Given the description of an element on the screen output the (x, y) to click on. 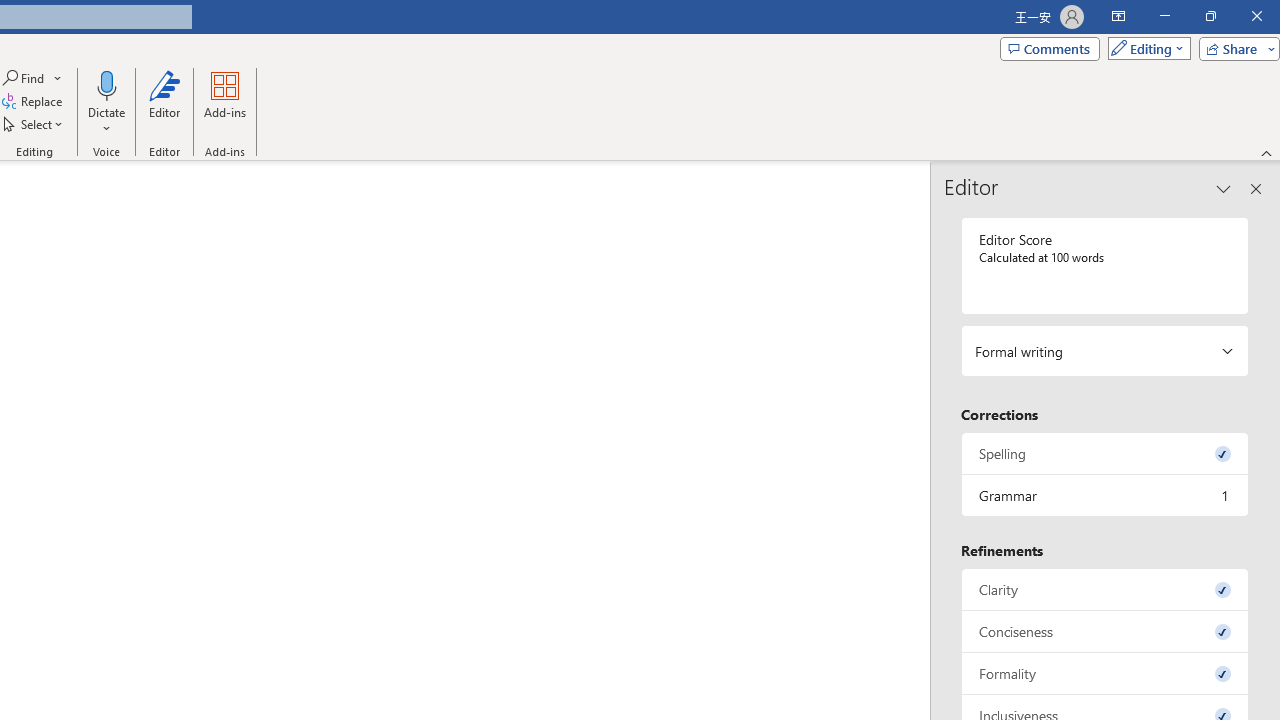
Grammar, 1 issue. Press space or enter to review items. (1105, 495)
